Given the description of an element on the screen output the (x, y) to click on. 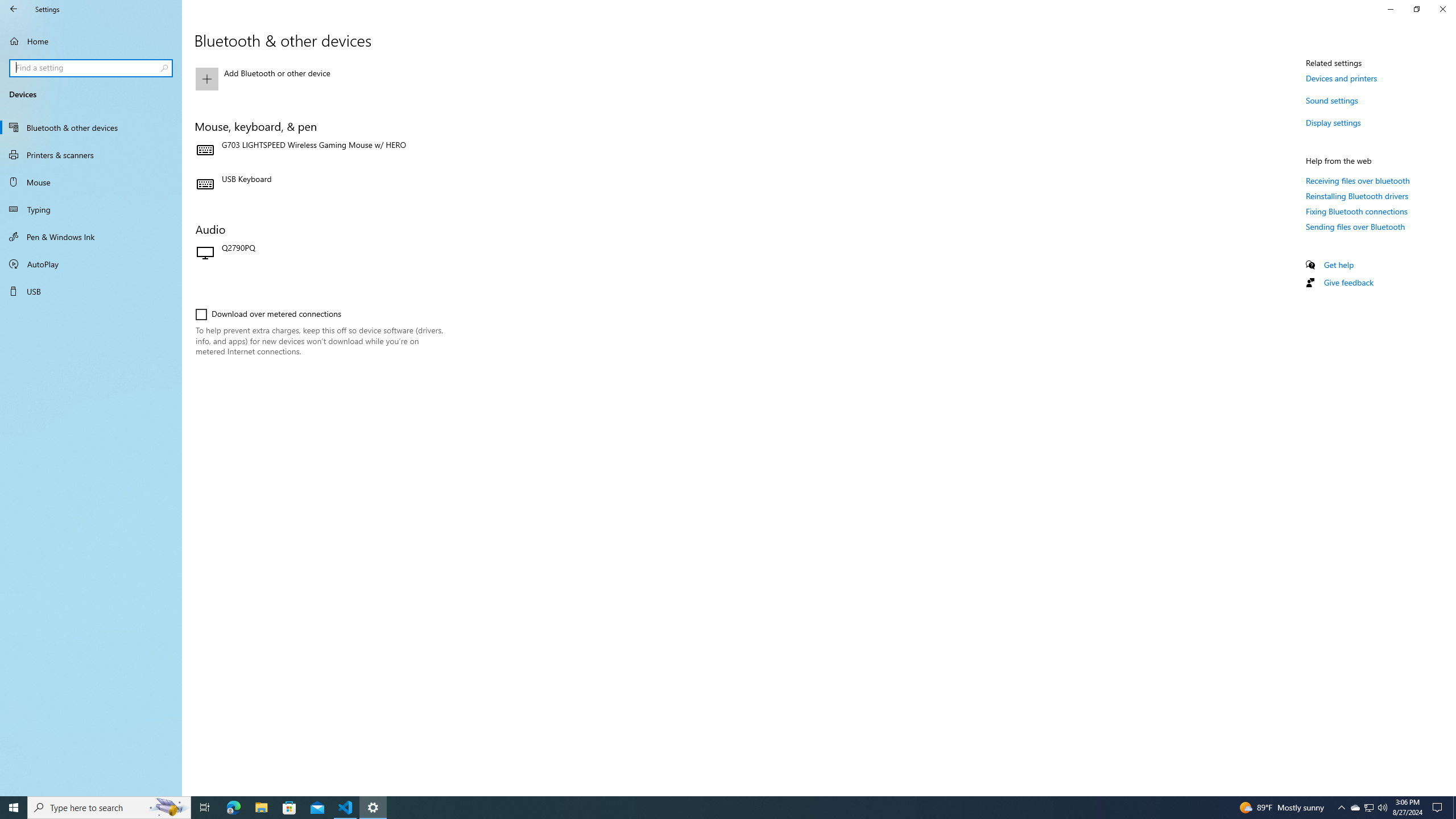
Devices and printers (1341, 77)
Typing (91, 208)
